Given the description of an element on the screen output the (x, y) to click on. 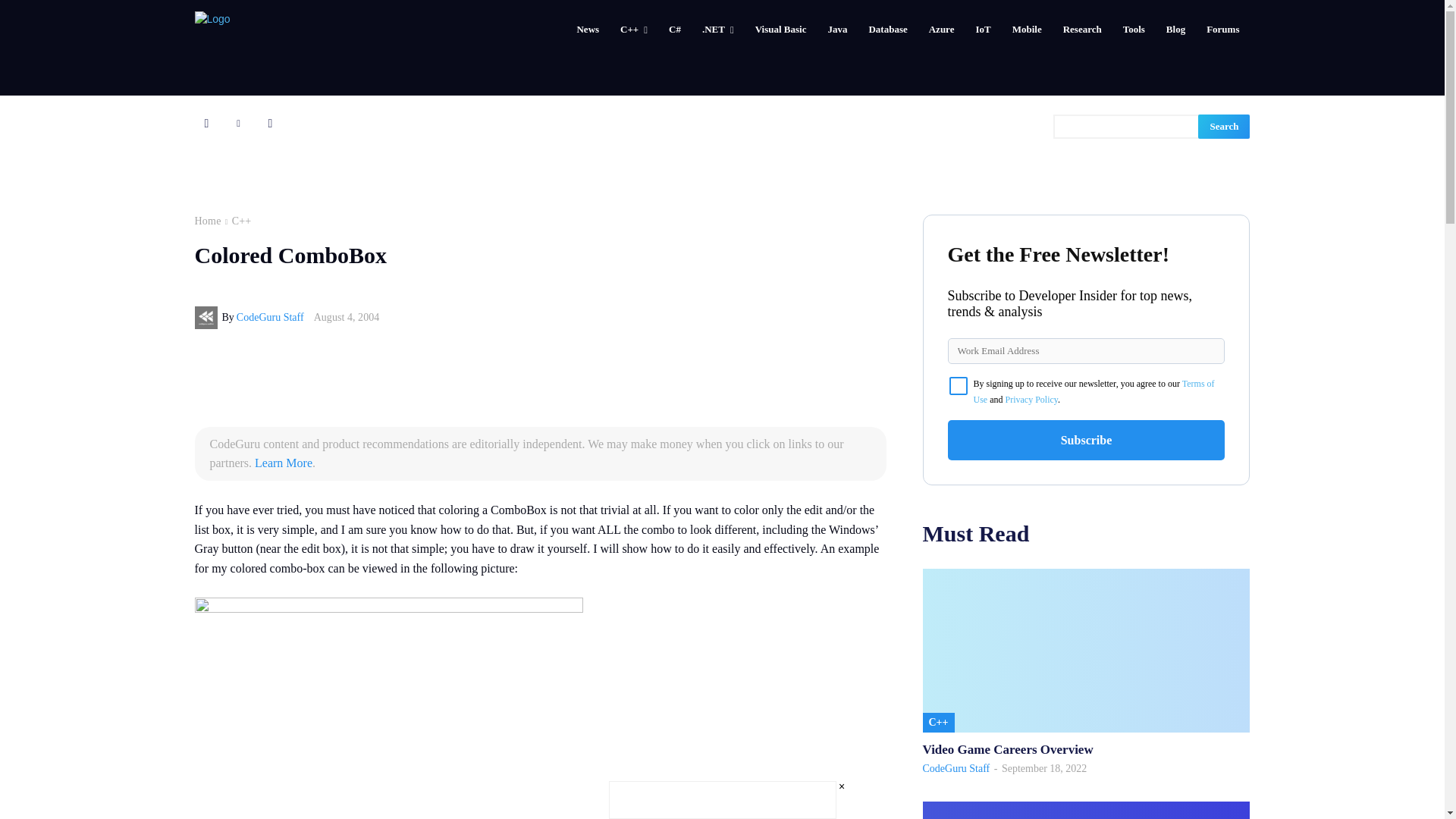
Facebook (205, 122)
IoT (982, 29)
Research (1082, 29)
Twitter (269, 122)
Linkedin (237, 122)
CodeGuru Staff (207, 317)
Azure (941, 29)
Mobile (1026, 29)
Java (836, 29)
News (588, 29)
